Given the description of an element on the screen output the (x, y) to click on. 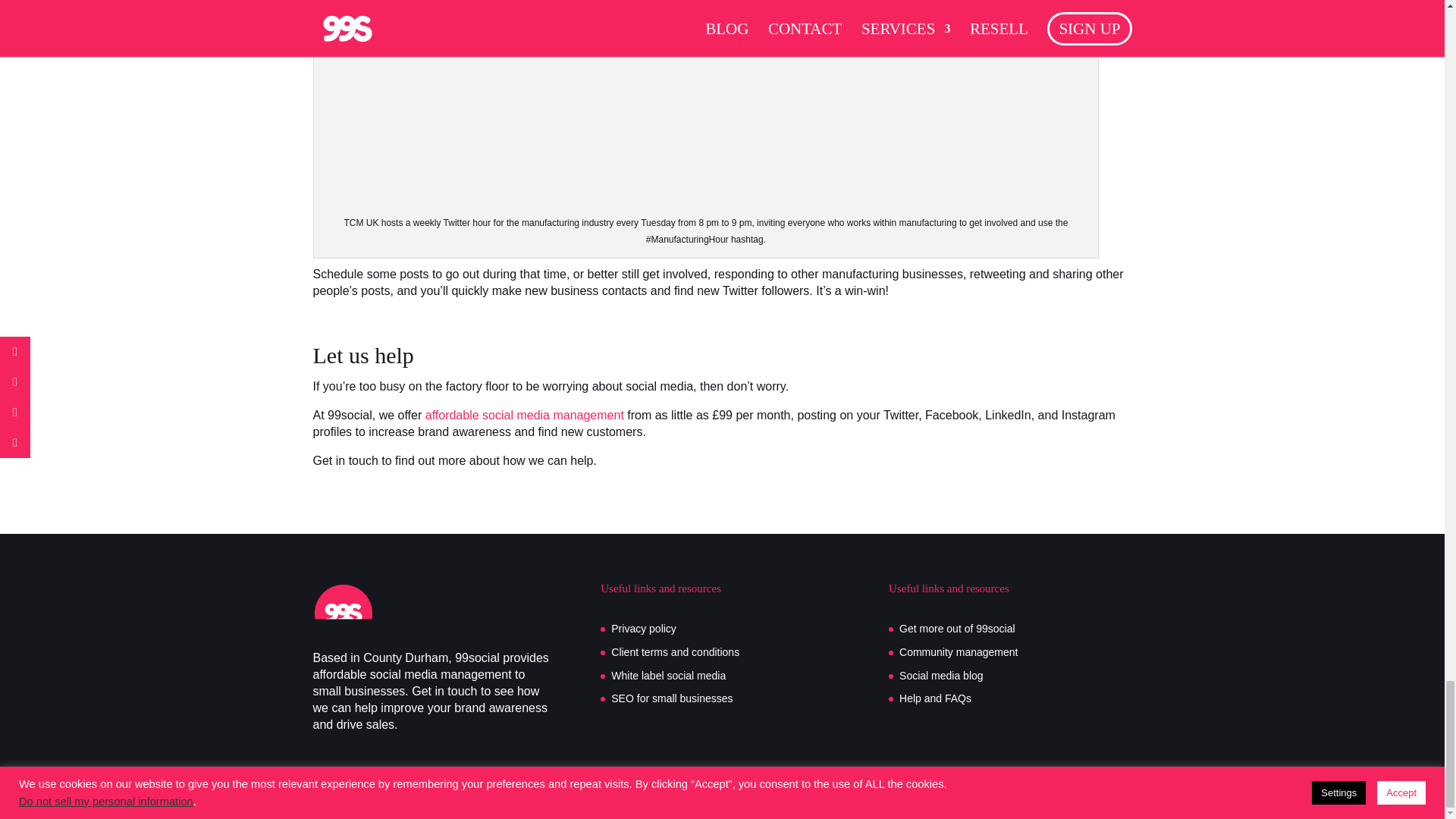
Community management (958, 652)
Help and FAQs (935, 698)
Get more out of 99social (956, 628)
Social media blog (941, 675)
Client terms and conditions (675, 652)
affordable social media management (524, 414)
SEO for small businesses (671, 698)
White label social media (668, 675)
Privacy policy (644, 628)
